Given the description of an element on the screen output the (x, y) to click on. 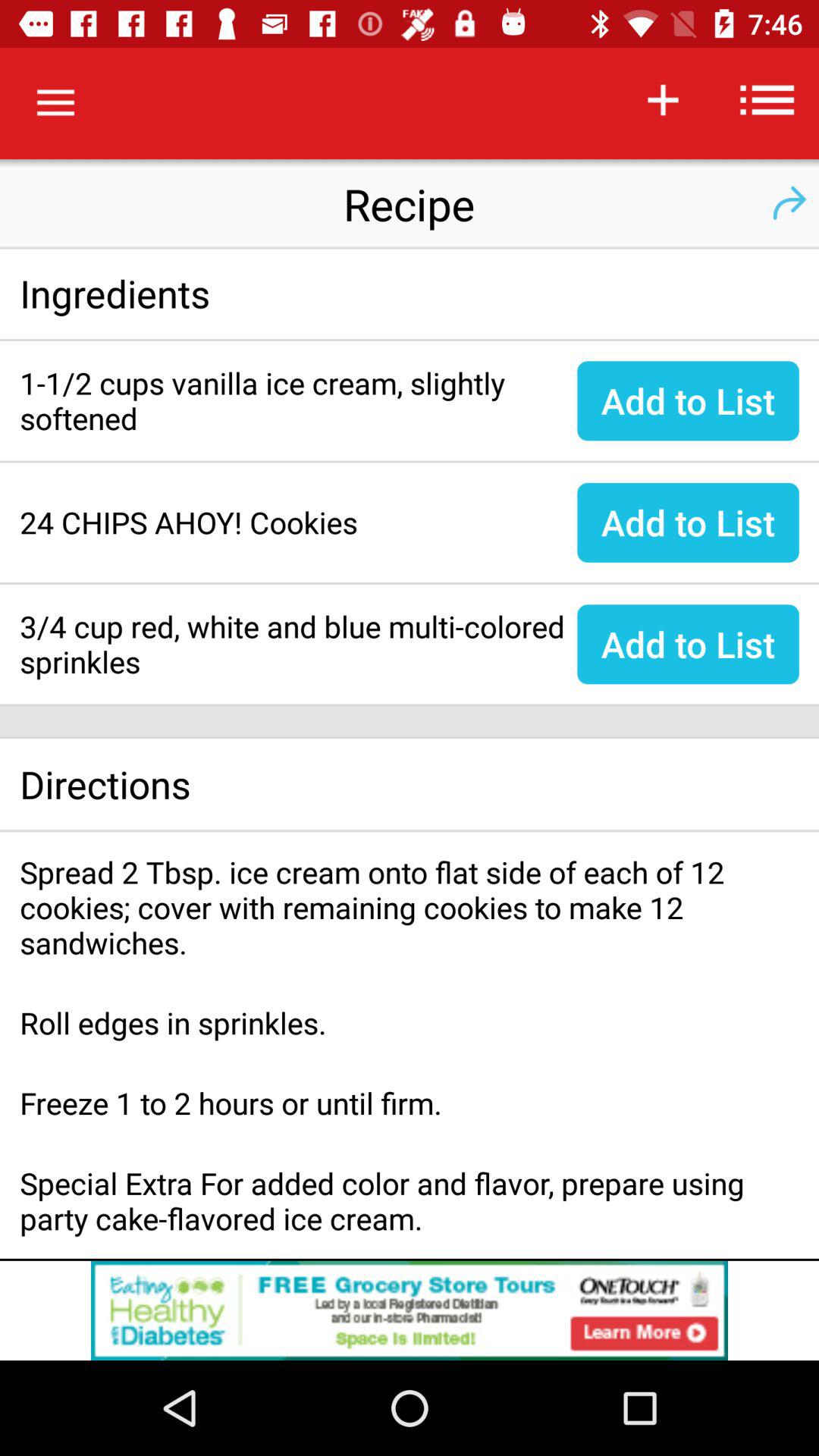
add the option (409, 1310)
